Given the description of an element on the screen output the (x, y) to click on. 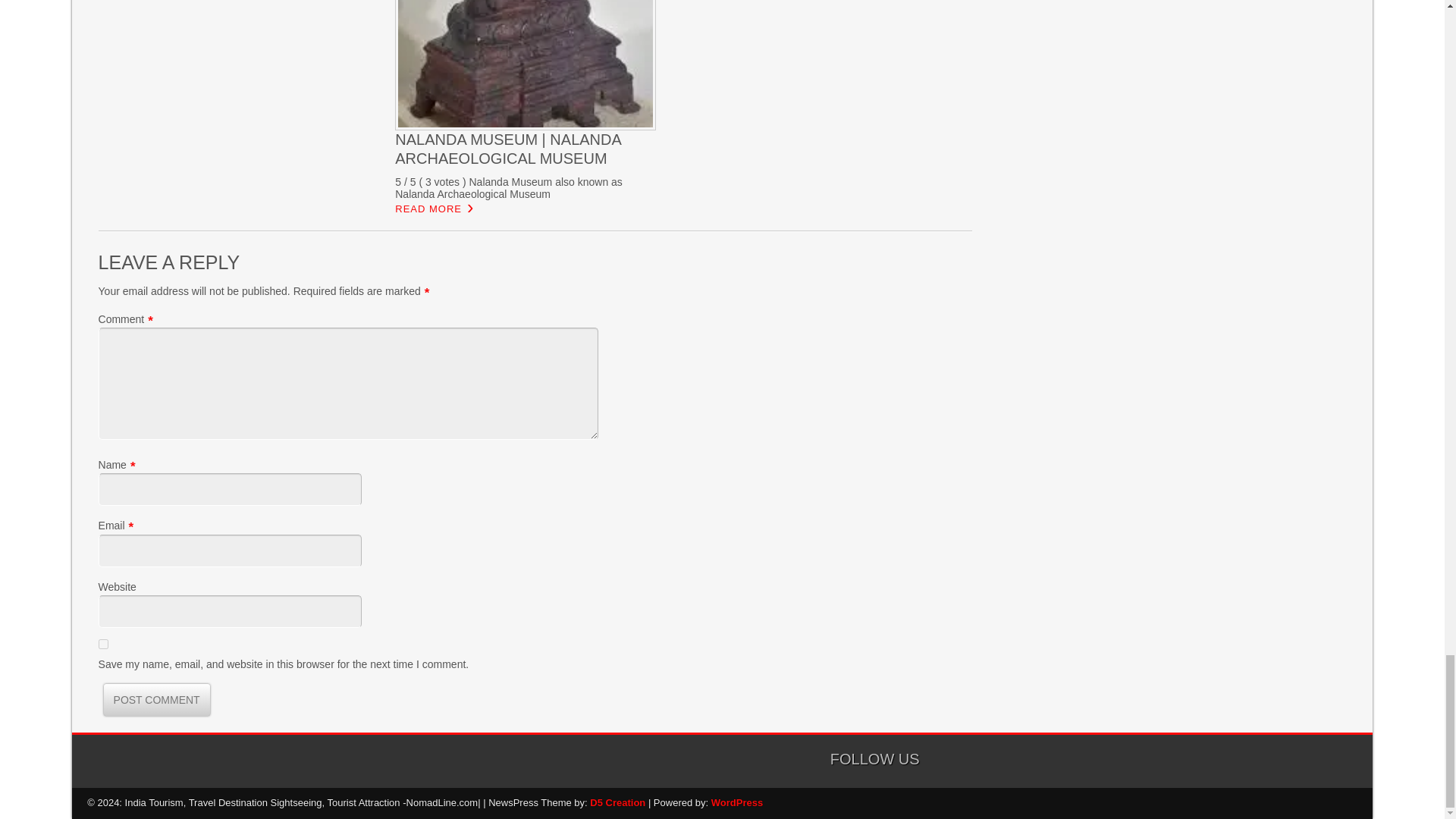
Post Comment (156, 699)
yes (103, 644)
